Given the description of an element on the screen output the (x, y) to click on. 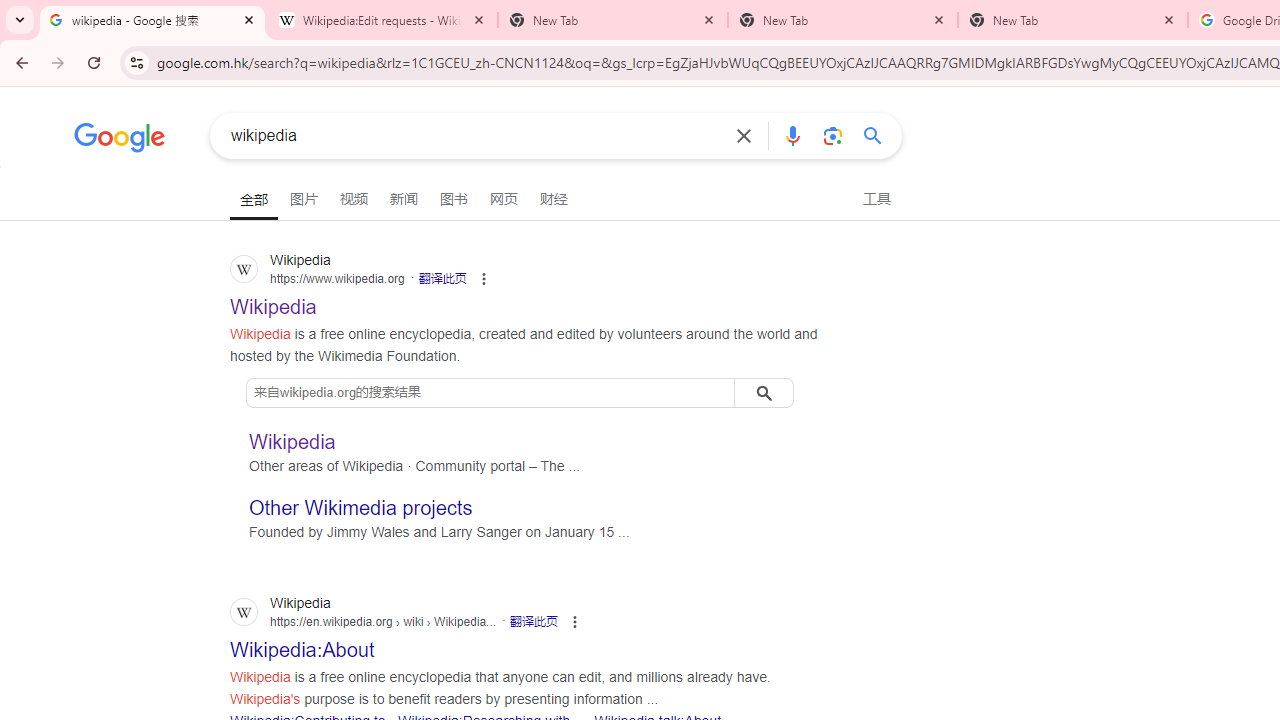
New Tab (842, 20)
 Wikipedia Wikipedia https://www.wikipedia.org (273, 300)
New Tab (1072, 20)
